Given the description of an element on the screen output the (x, y) to click on. 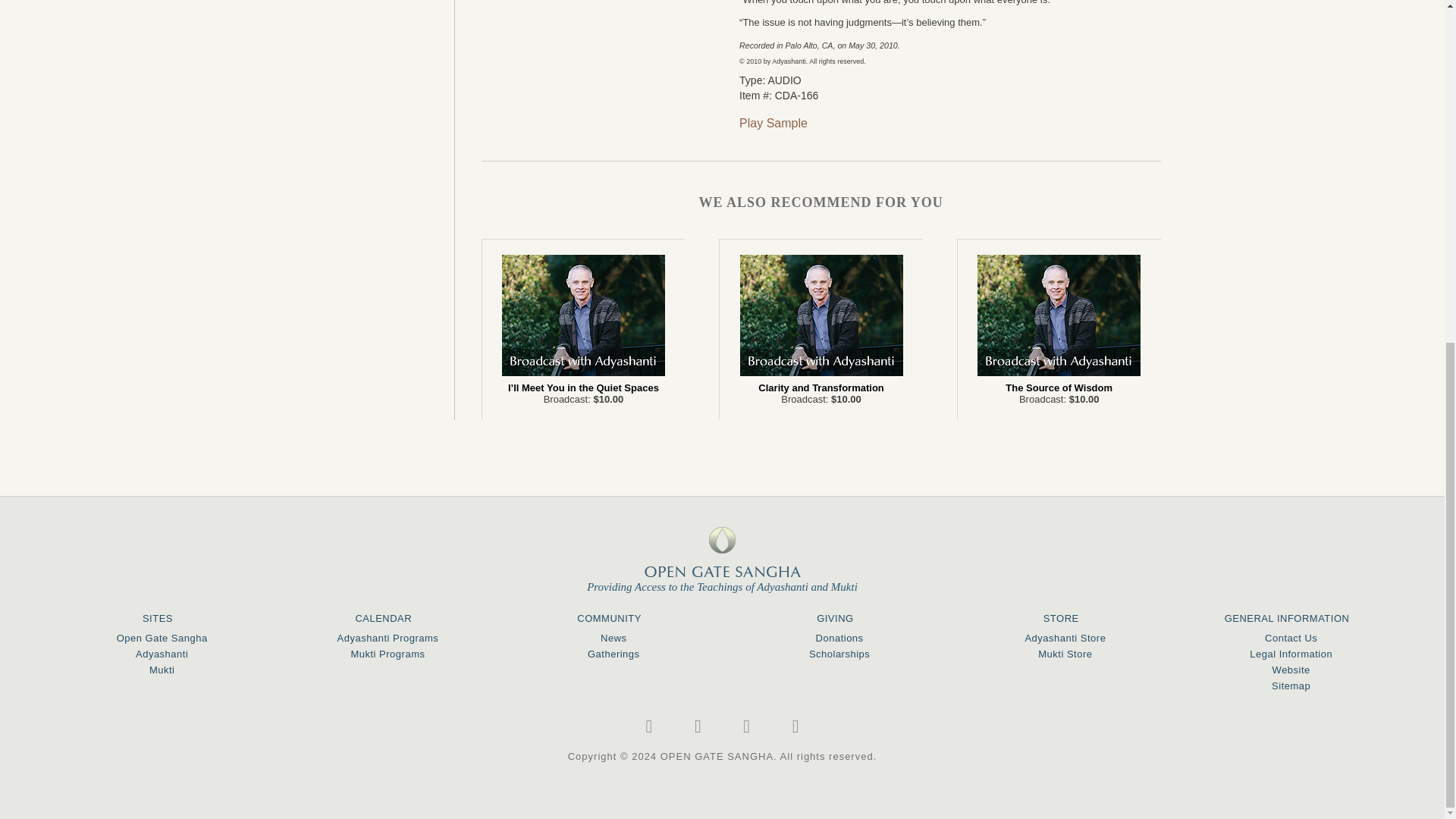
The Source of Wisdom (1058, 314)
open gate sangha (722, 552)
Clarity and Transformation (820, 314)
